Given the description of an element on the screen output the (x, y) to click on. 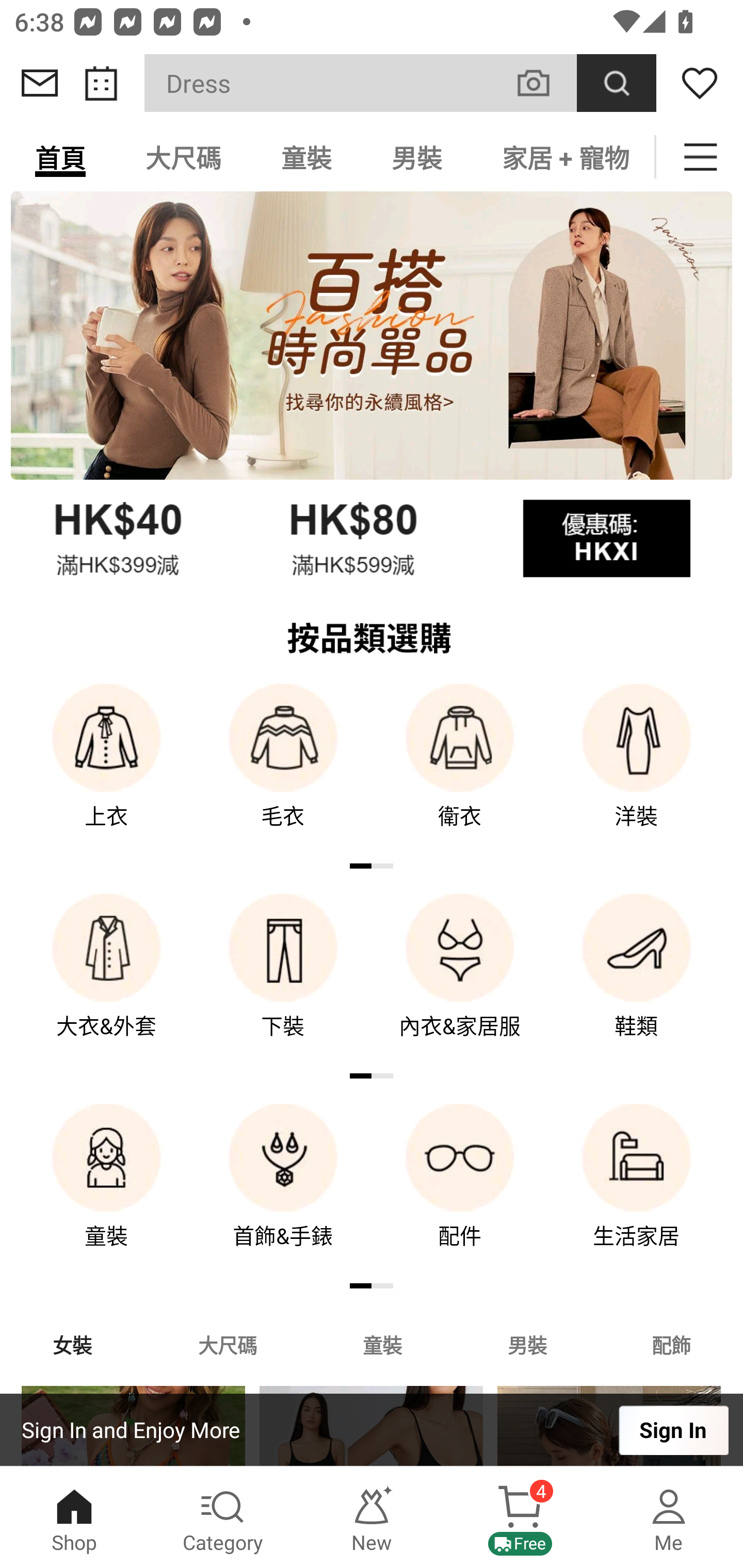
Wishlist (699, 82)
VISUAL SEARCH (543, 82)
首頁 (60, 156)
大尺碼 (183, 156)
童裝 (306, 156)
男裝 (416, 156)
家居 + 寵物 (563, 156)
上衣 (105, 769)
毛衣 (282, 769)
衛衣 (459, 769)
洋裝 (636, 769)
大衣&外套 (105, 979)
下裝 (282, 979)
內衣&家居服 (459, 979)
鞋類 (636, 979)
童裝 (105, 1189)
首飾&手錶 (282, 1189)
配件 (459, 1189)
生活家居 (636, 1189)
女裝 (72, 1344)
大尺碼 (226, 1344)
童裝 (381, 1344)
男裝 (527, 1344)
配飾 (671, 1344)
Sign In and Enjoy More Sign In (371, 1429)
Category (222, 1517)
New (371, 1517)
Cart 4 Free (519, 1517)
Me (668, 1517)
